Given the description of an element on the screen output the (x, y) to click on. 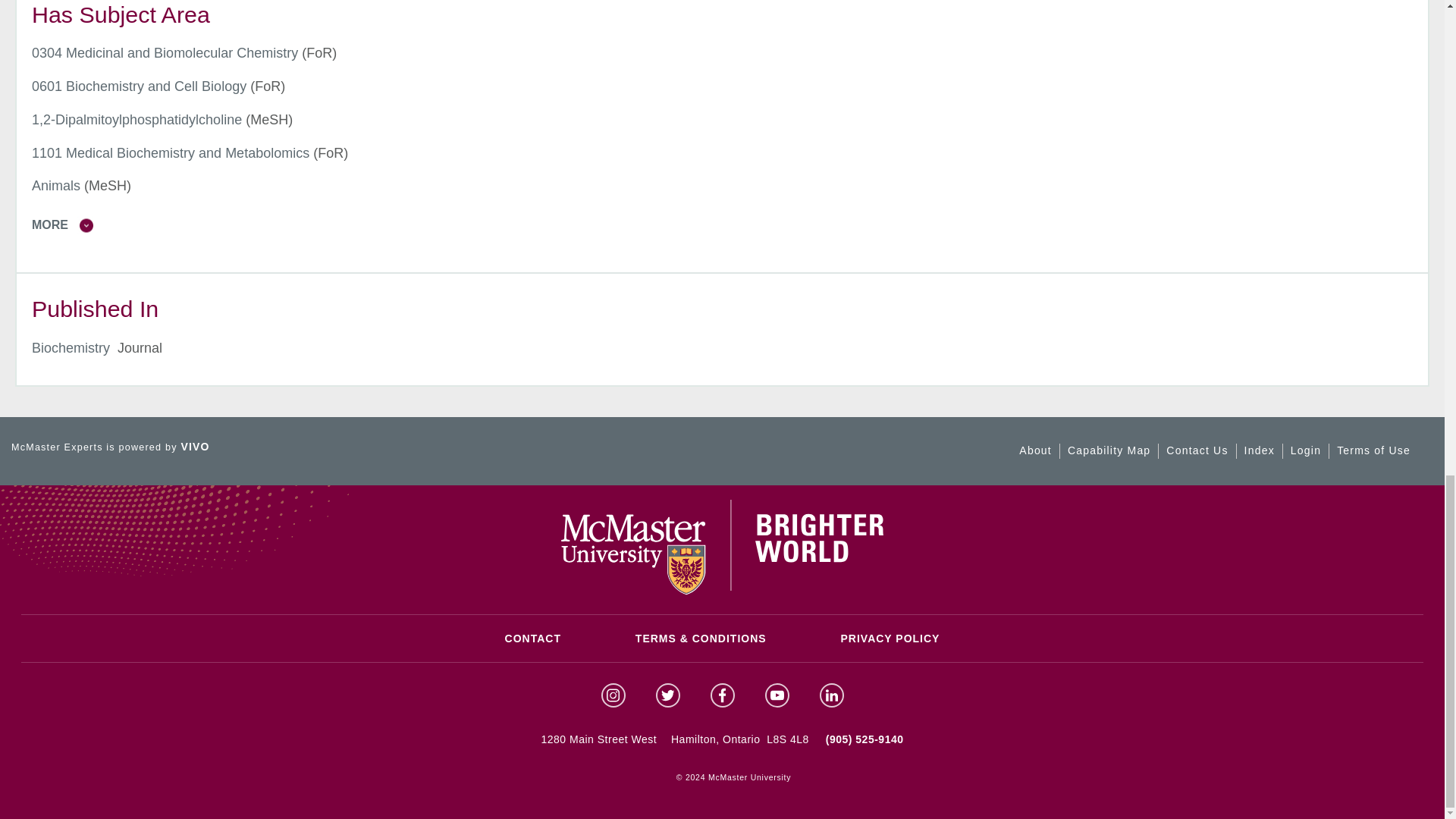
concept name (56, 185)
concept name (165, 52)
concept name (139, 86)
concept name (170, 152)
concept name (136, 119)
